Given the description of an element on the screen output the (x, y) to click on. 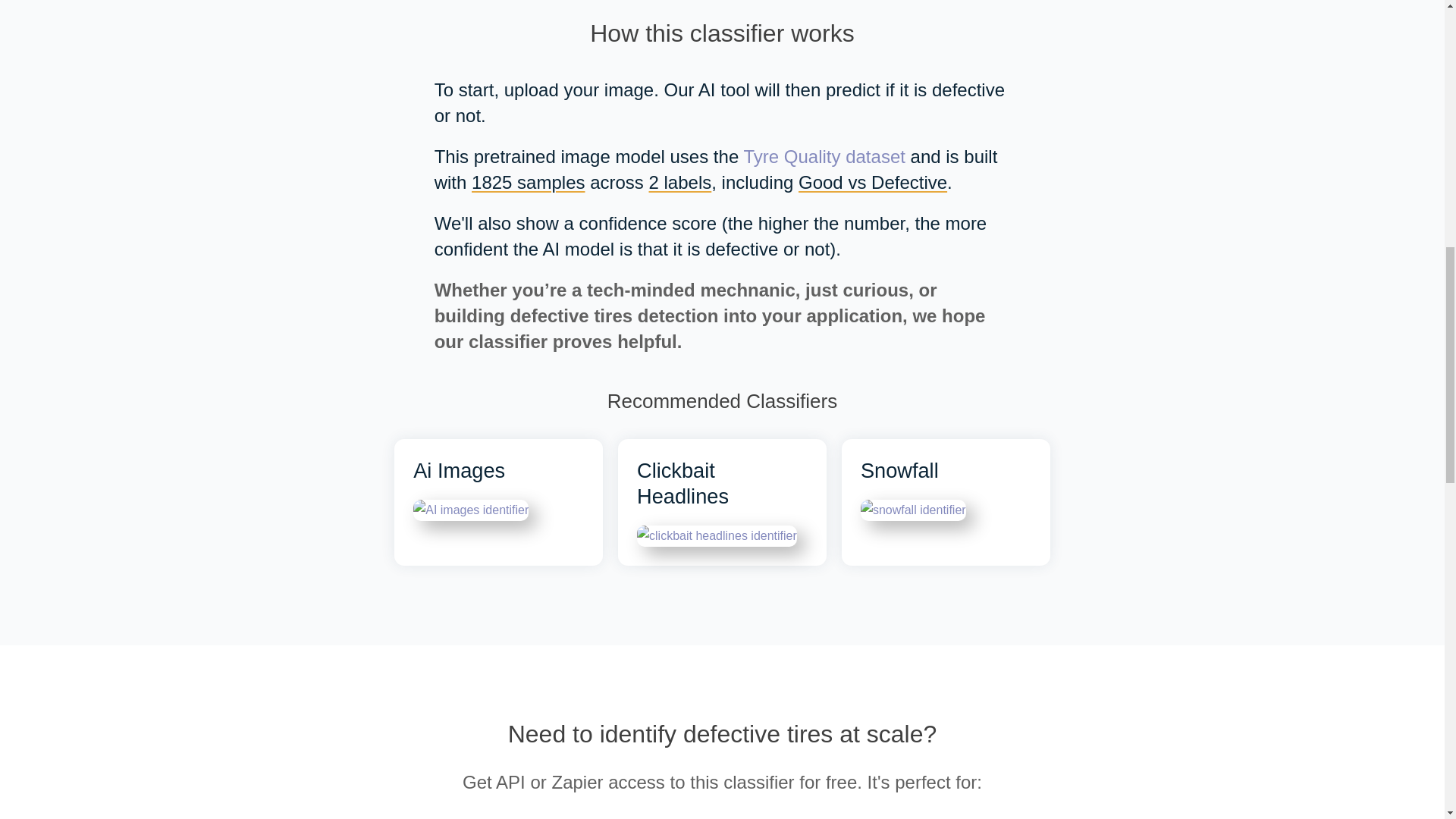
Tyre Quality dataset (823, 156)
Ai Images (498, 501)
Clickbait Headlines (722, 501)
Snowfall (945, 501)
